Given the description of an element on the screen output the (x, y) to click on. 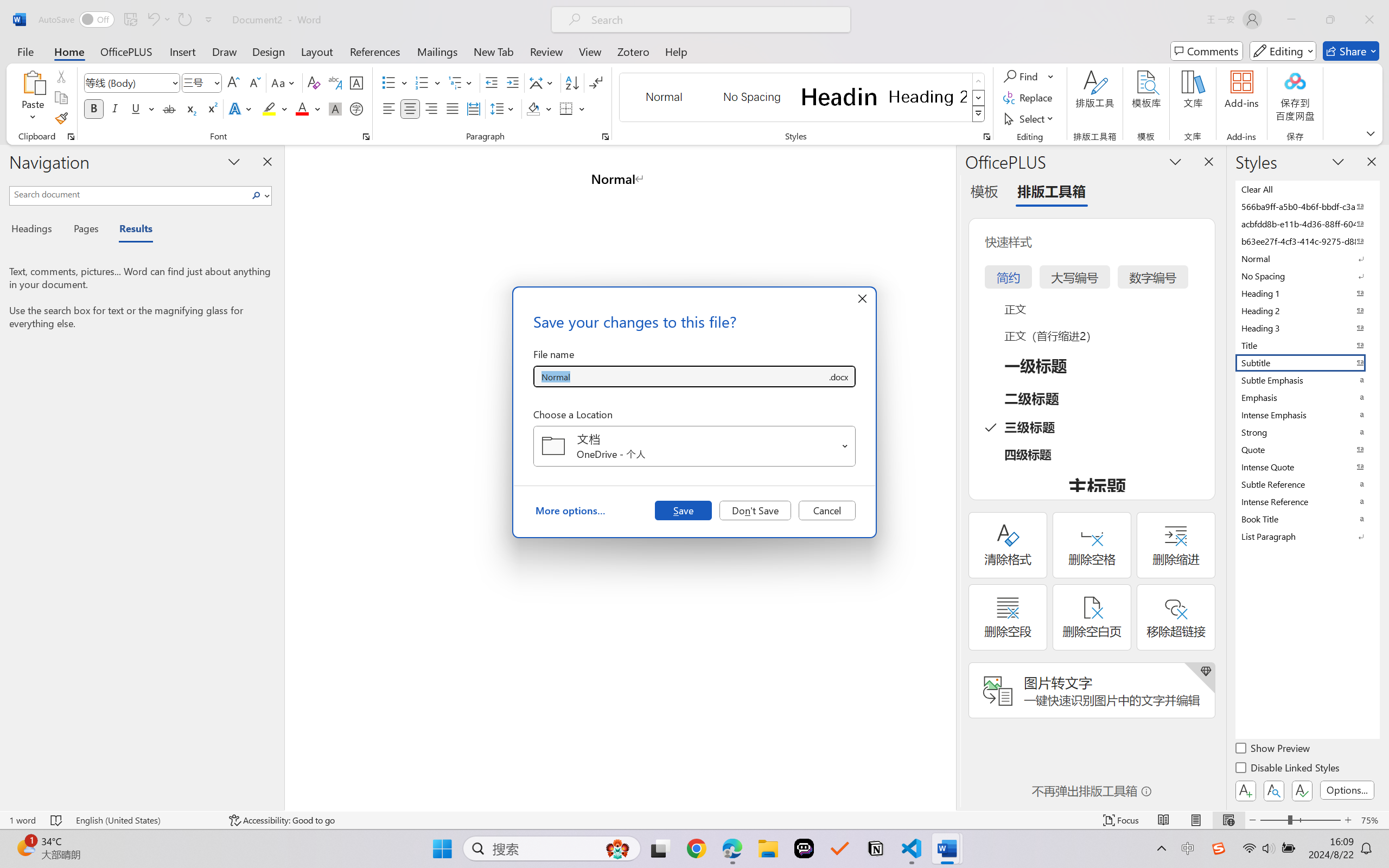
Change Case (284, 82)
566ba9ff-a5b0-4b6f-bbdf-c3ab41993fc2 (1306, 206)
Insert (182, 51)
Replace... (1029, 97)
Text Effects and Typography (241, 108)
Text Highlight Color Yellow (269, 108)
Language English (United States) (144, 819)
Save as type (837, 376)
